Given the description of an element on the screen output the (x, y) to click on. 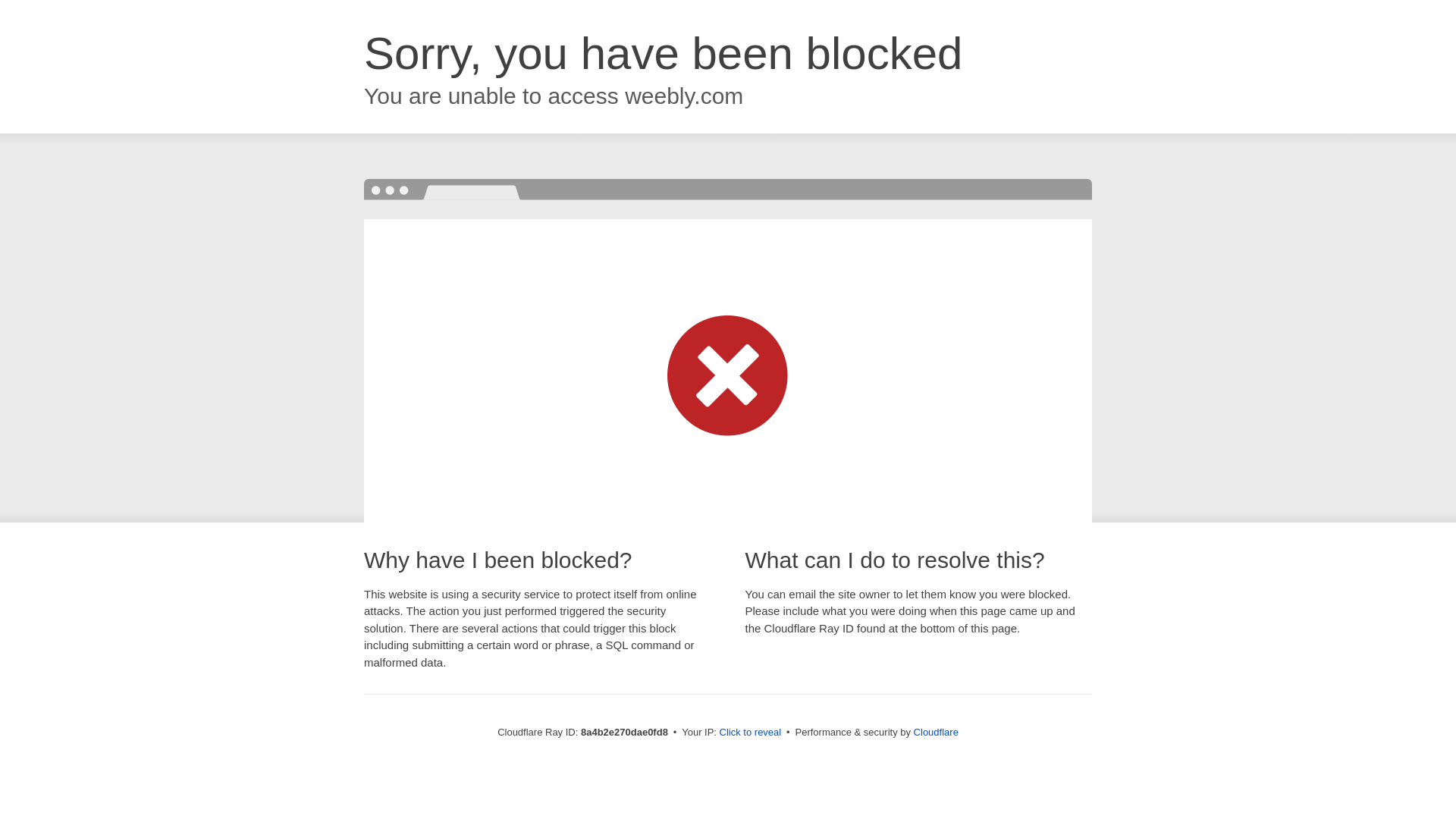
Click to reveal (750, 732)
Cloudflare (936, 731)
